Given the description of an element on the screen output the (x, y) to click on. 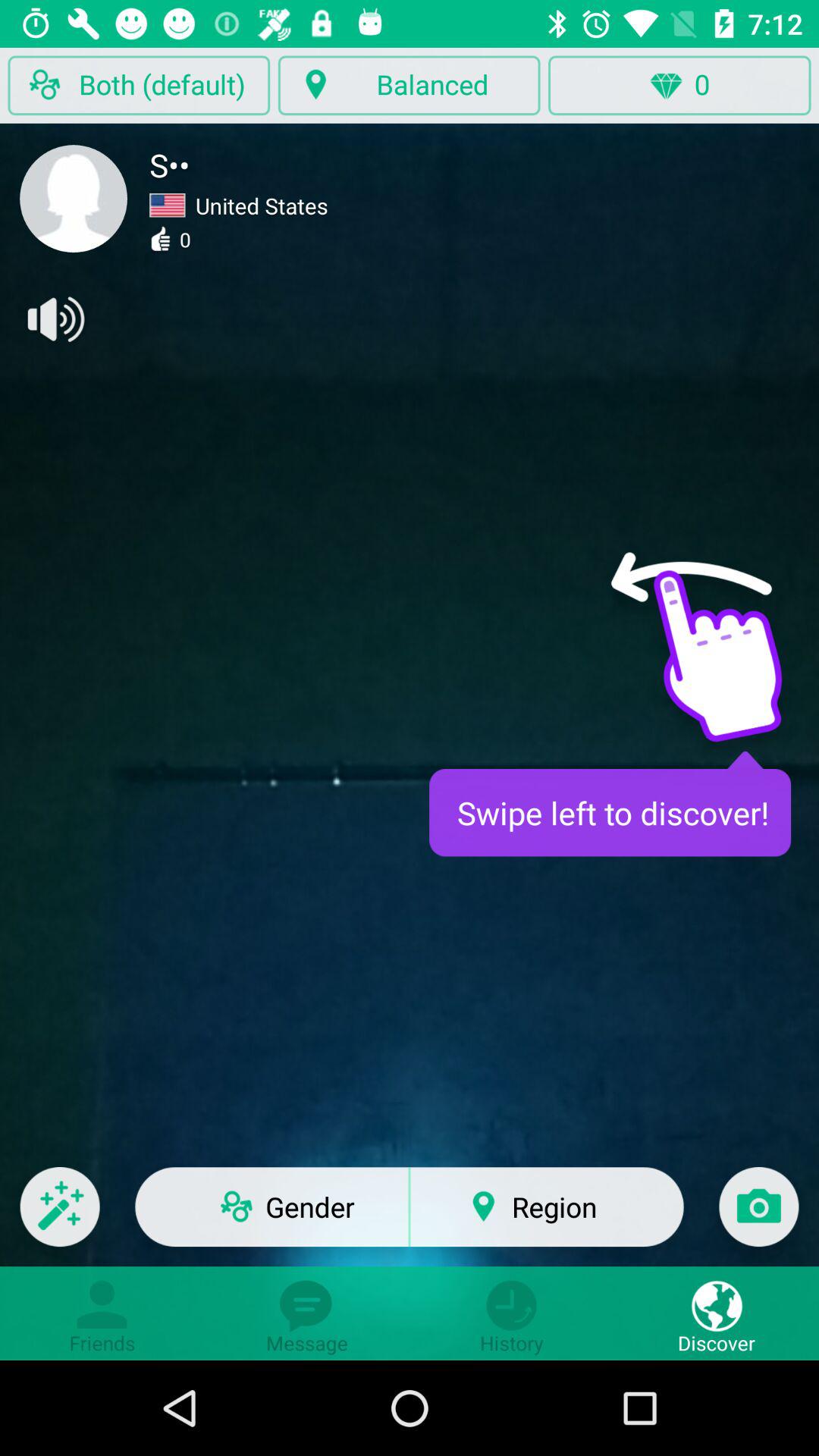
take a picture (758, 1216)
